Given the description of an element on the screen output the (x, y) to click on. 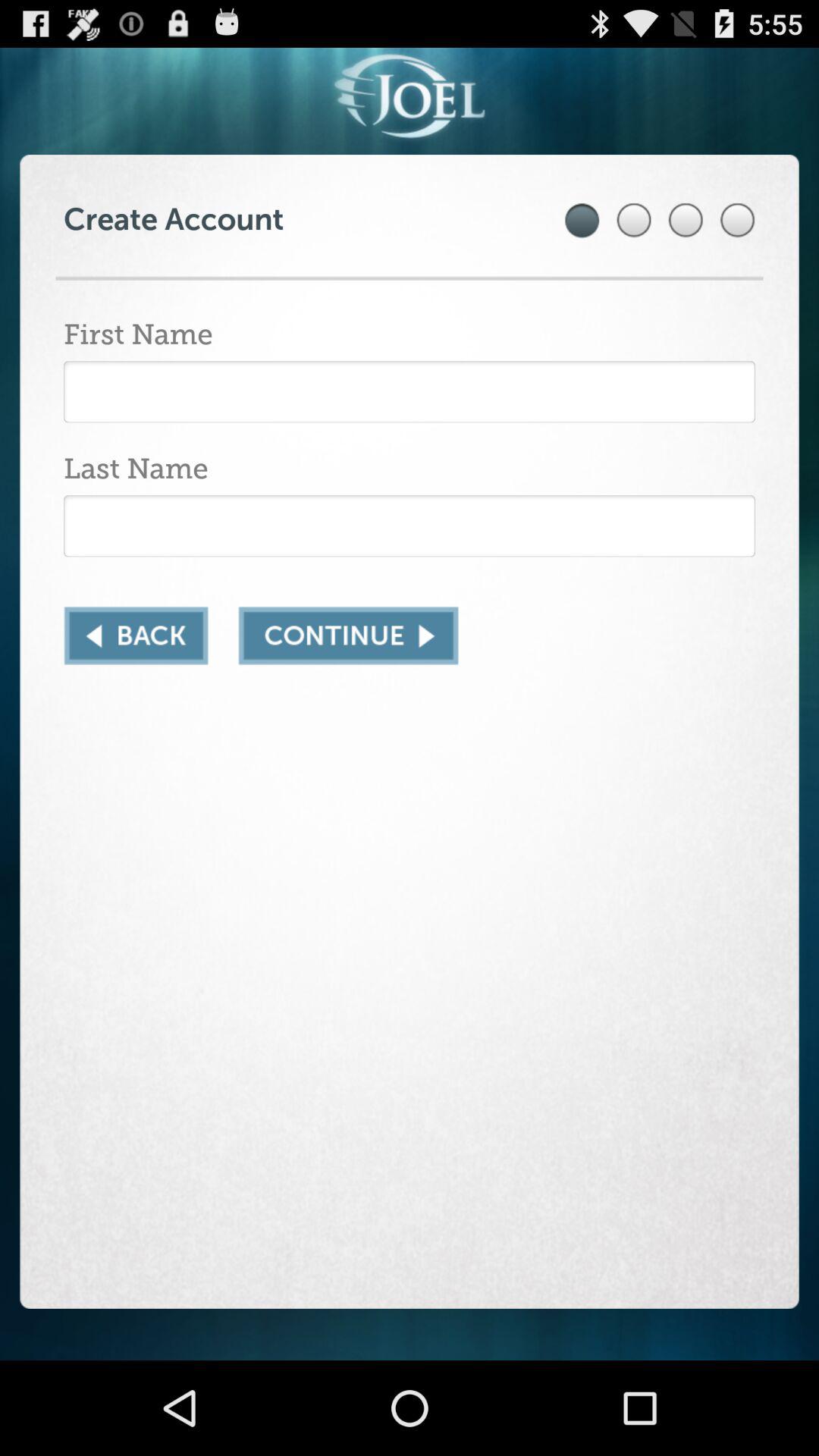
continue creating account (348, 635)
